Given the description of an element on the screen output the (x, y) to click on. 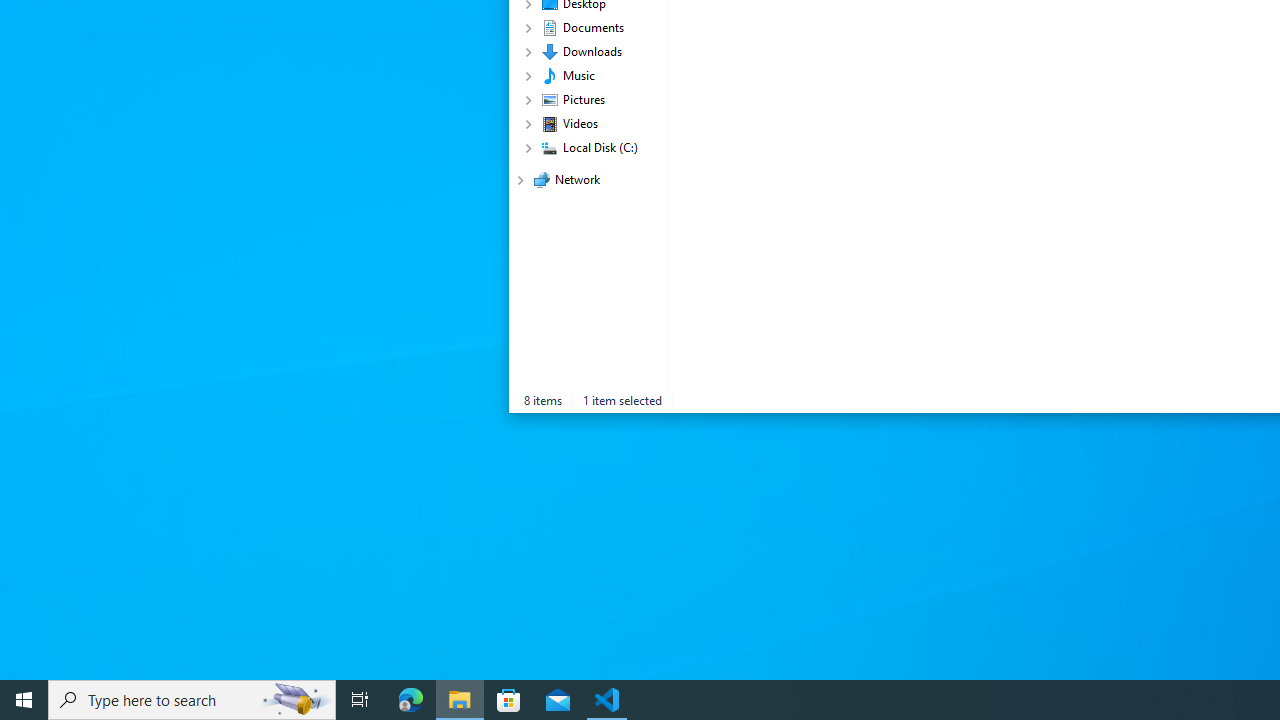
File Explorer - 1 running window (460, 699)
